Given the description of an element on the screen output the (x, y) to click on. 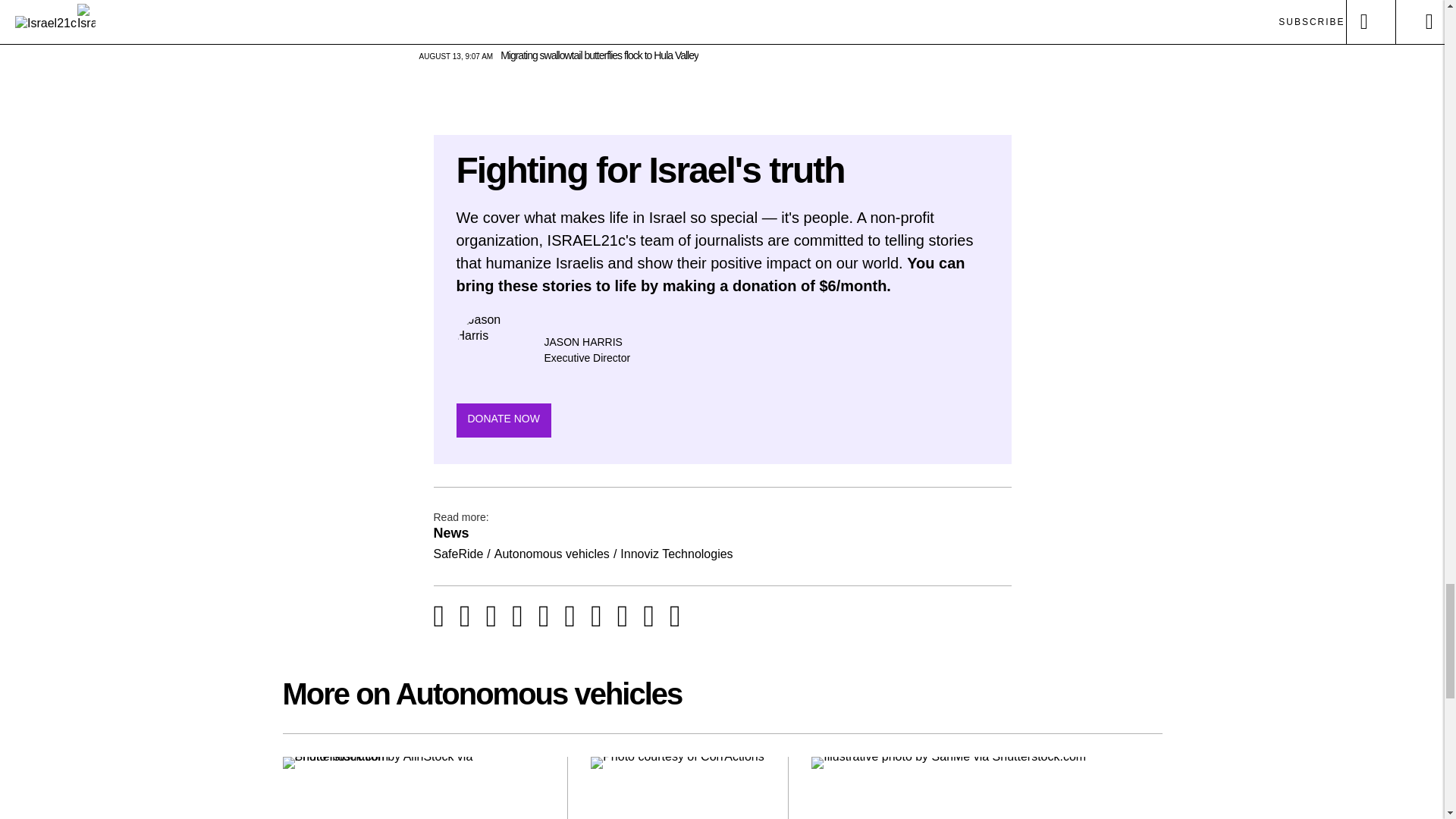
Illustrative photo by SariMe via Shutterstock.com (985, 787)
Photo courtesy of CorrActions (678, 787)
Photo illustration by AlinStock via Shutterstock.com (413, 787)
